Given the description of an element on the screen output the (x, y) to click on. 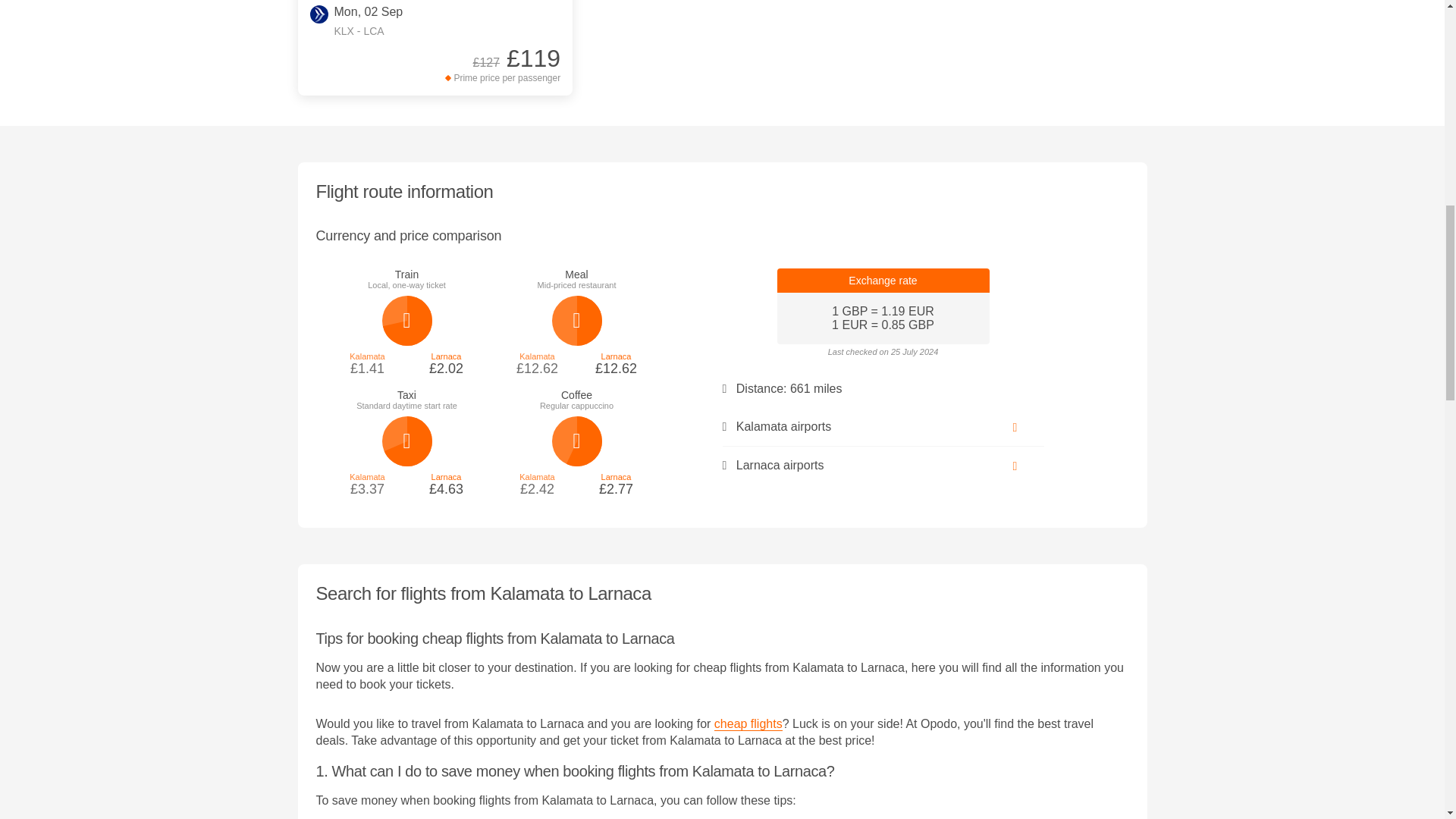
cheap flights (748, 724)
